Given the description of an element on the screen output the (x, y) to click on. 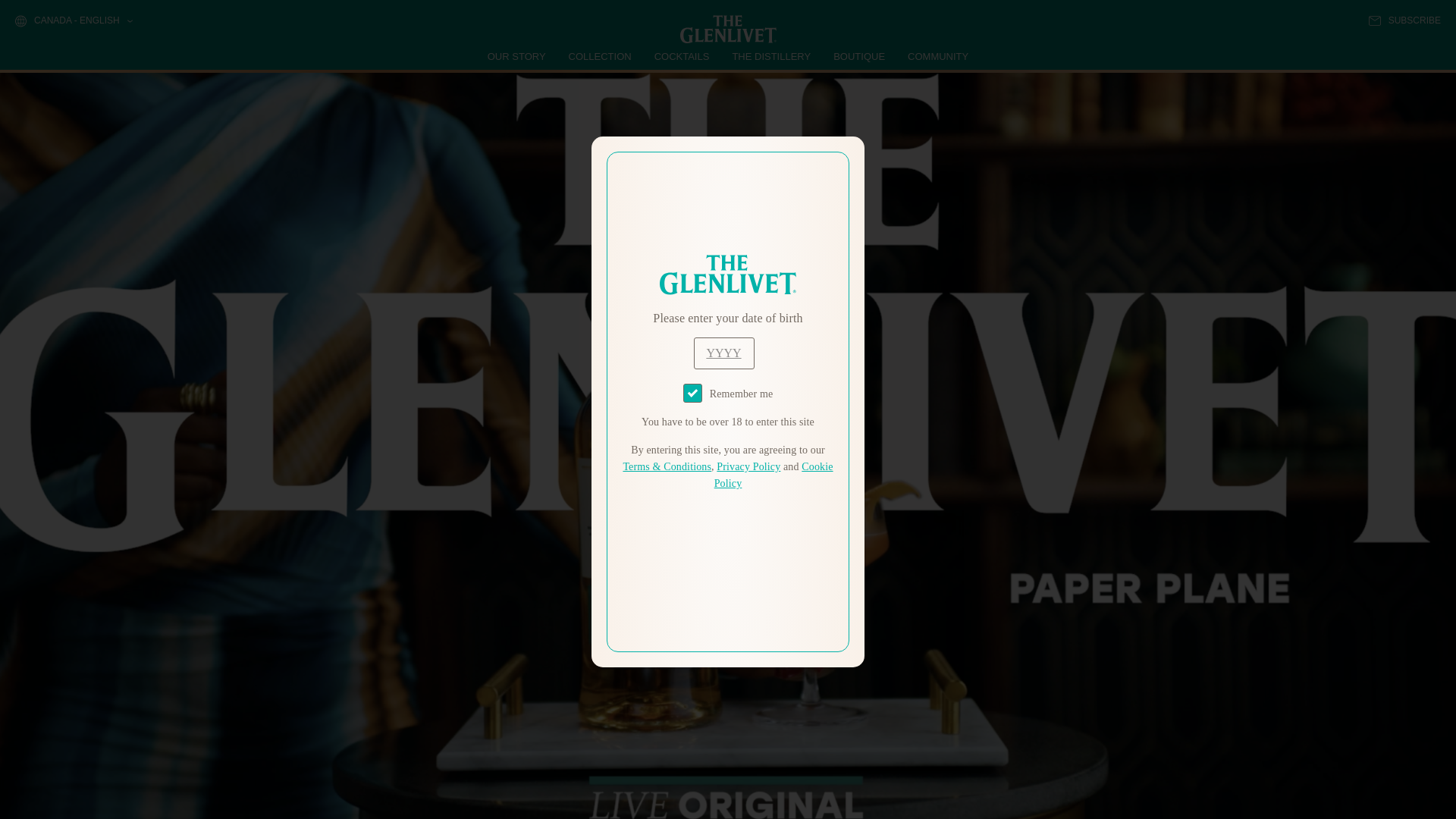
year (723, 353)
BOUTIQUE (858, 56)
Cookie Policy (773, 474)
COMMUNITY (937, 56)
OUR STORY (516, 56)
SUBSCRIBE (1404, 20)
THE DISTILLERY (771, 56)
CANADA - ENGLISH (73, 21)
Privacy Policy (748, 466)
COLLECTION (600, 56)
COCKTAILS (681, 56)
